Given the description of an element on the screen output the (x, y) to click on. 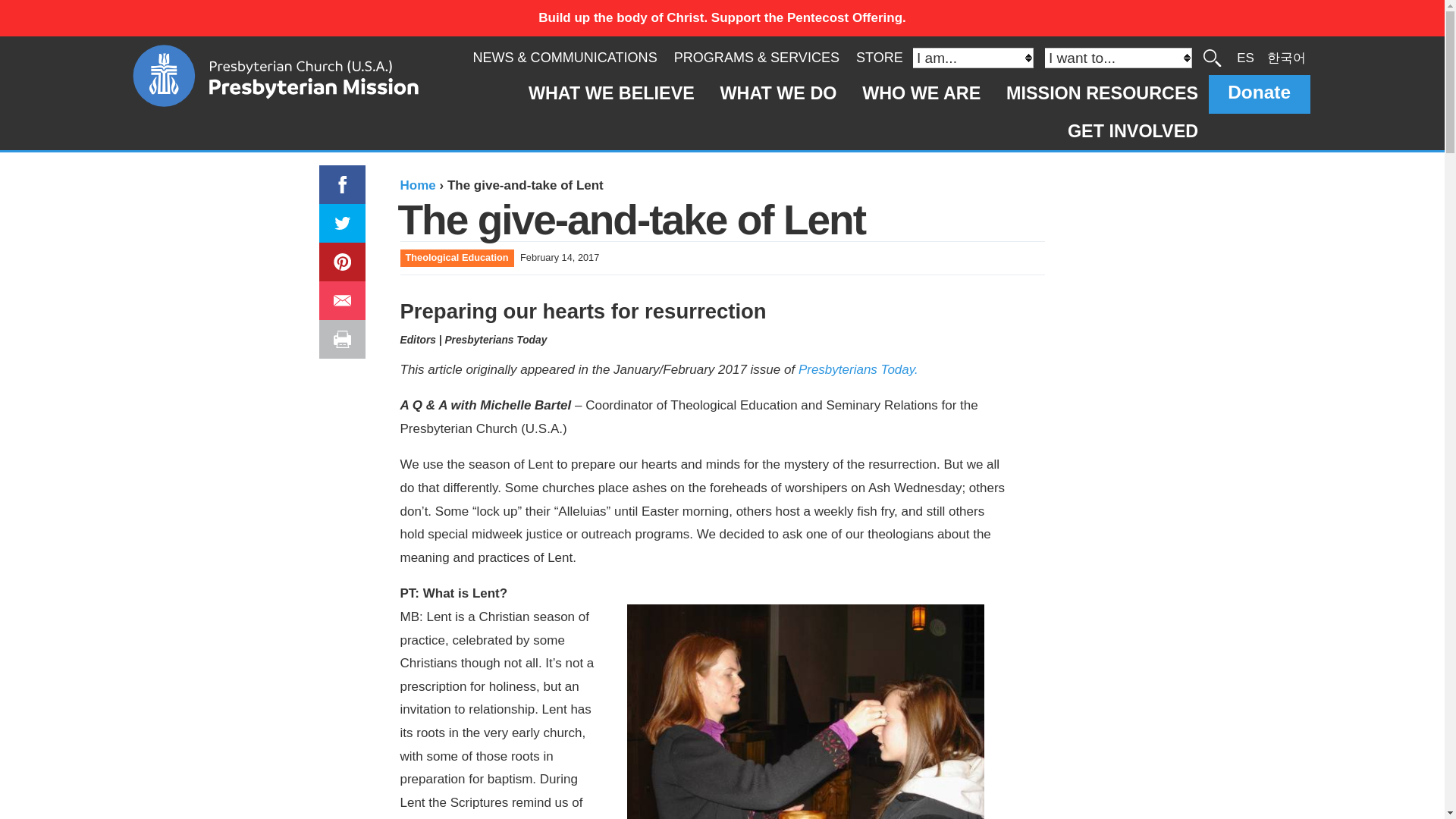
STORE (879, 57)
Share via Email (344, 300)
Share on Facebook (334, 175)
Pin It (337, 253)
Print this page (344, 339)
Share on Twitter (339, 214)
Build up the body of Christ. Support the Pentecost Offering. (721, 17)
